Given the description of an element on the screen output the (x, y) to click on. 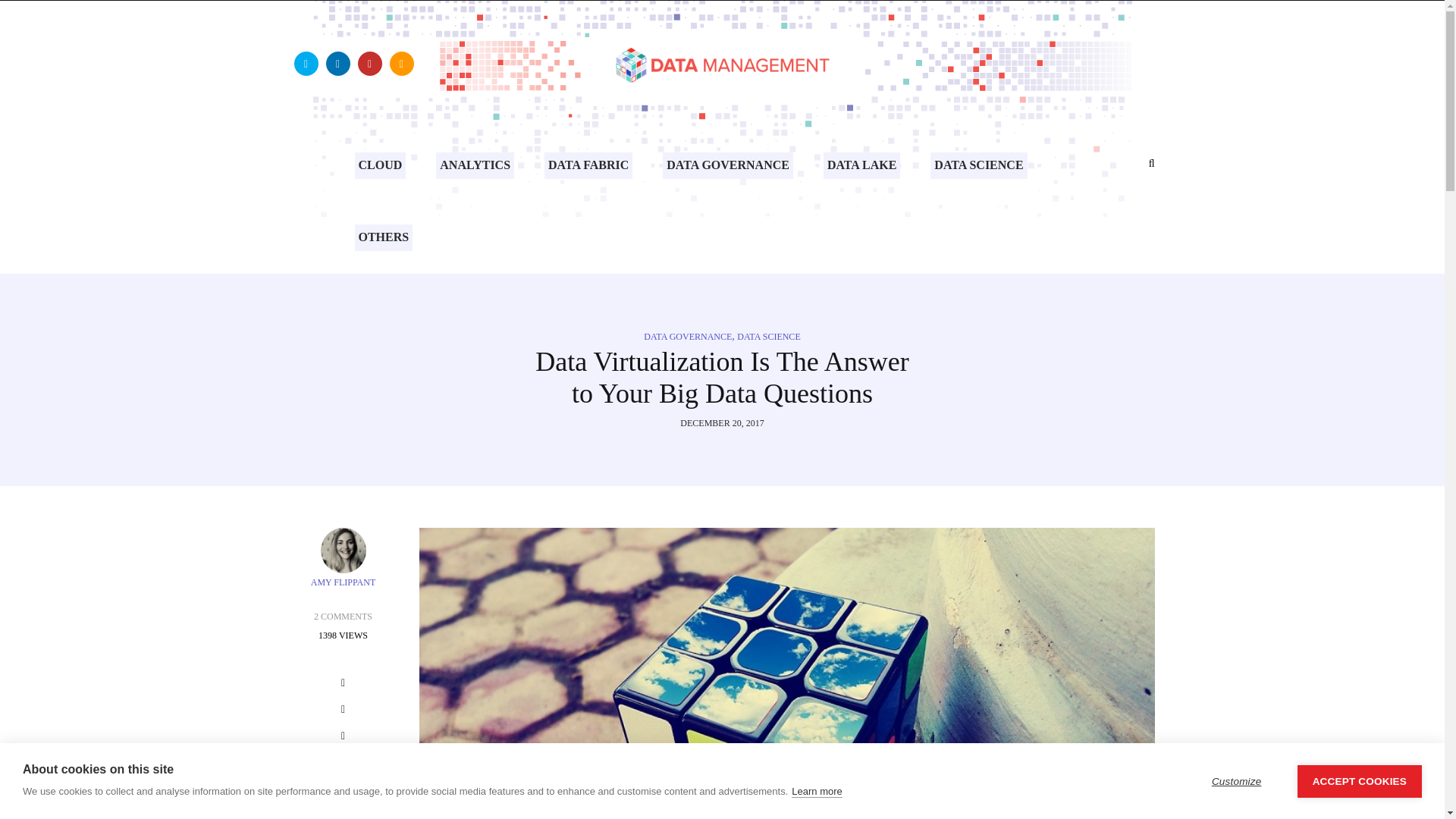
CLOUD (380, 165)
DATA SCIENCE (978, 165)
Pin this (342, 764)
ANALYTICS (474, 165)
DATA SCIENCE (767, 336)
DATA FABRIC (587, 165)
DATA GOVERNANCE (727, 165)
DATA LAKE (861, 165)
Share with Google Plus (342, 737)
OTHERS (384, 237)
2 COMMENTS (343, 615)
Share this (342, 684)
DATA GOVERNANCE (687, 336)
Tweet this (342, 711)
AMY FLIPPANT (343, 582)
